Given the description of an element on the screen output the (x, y) to click on. 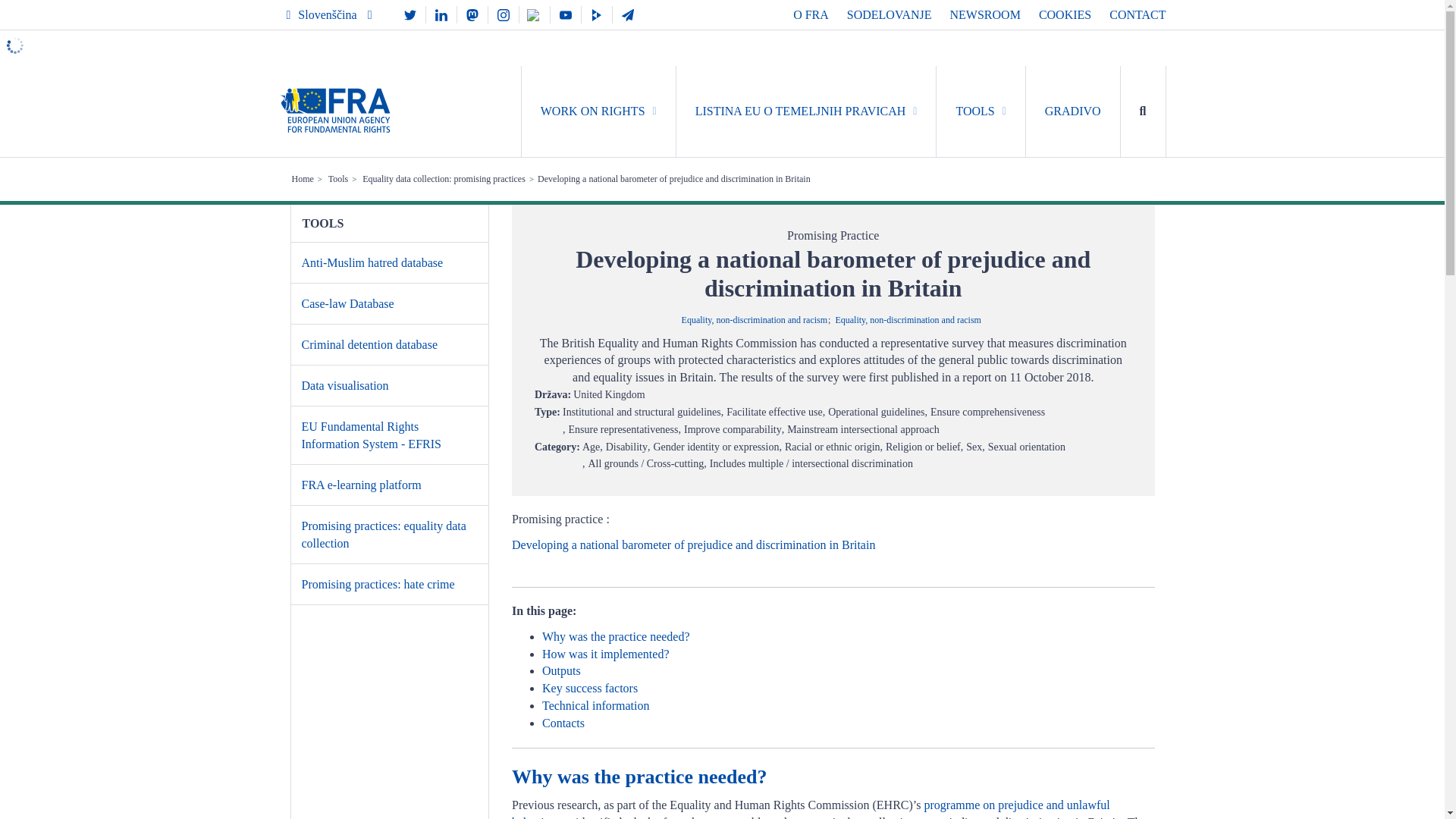
FRA's Facebook channel (534, 13)
LinkedIn (441, 13)
O FRA (810, 14)
Newsletter (627, 13)
YouTube (565, 13)
COOKIES (1064, 14)
SODELOVANJE (889, 14)
Twitter (409, 13)
FRA's Instagram channel (502, 13)
FRA's Mastodon channel (472, 13)
